Given the description of an element on the screen output the (x, y) to click on. 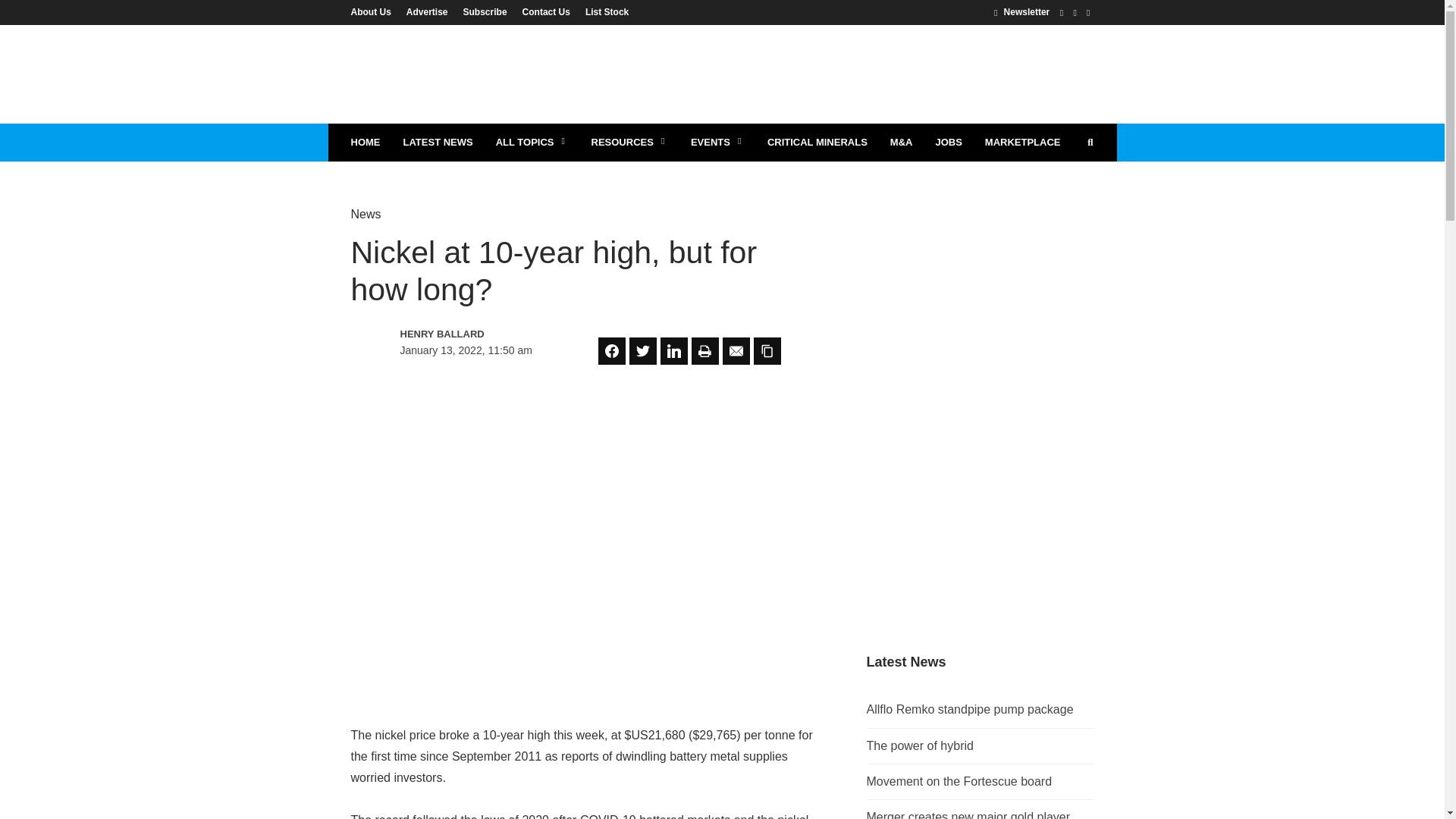
LATEST NEWS (437, 142)
Share on Print (705, 350)
View all posts by Henry Ballard (465, 333)
About Us (373, 11)
Share on Facebook (612, 350)
ALL TOPICS (531, 142)
HOME (365, 142)
Contact Us (546, 11)
Newsletter (1021, 11)
Subscribe (485, 11)
